Given the description of an element on the screen output the (x, y) to click on. 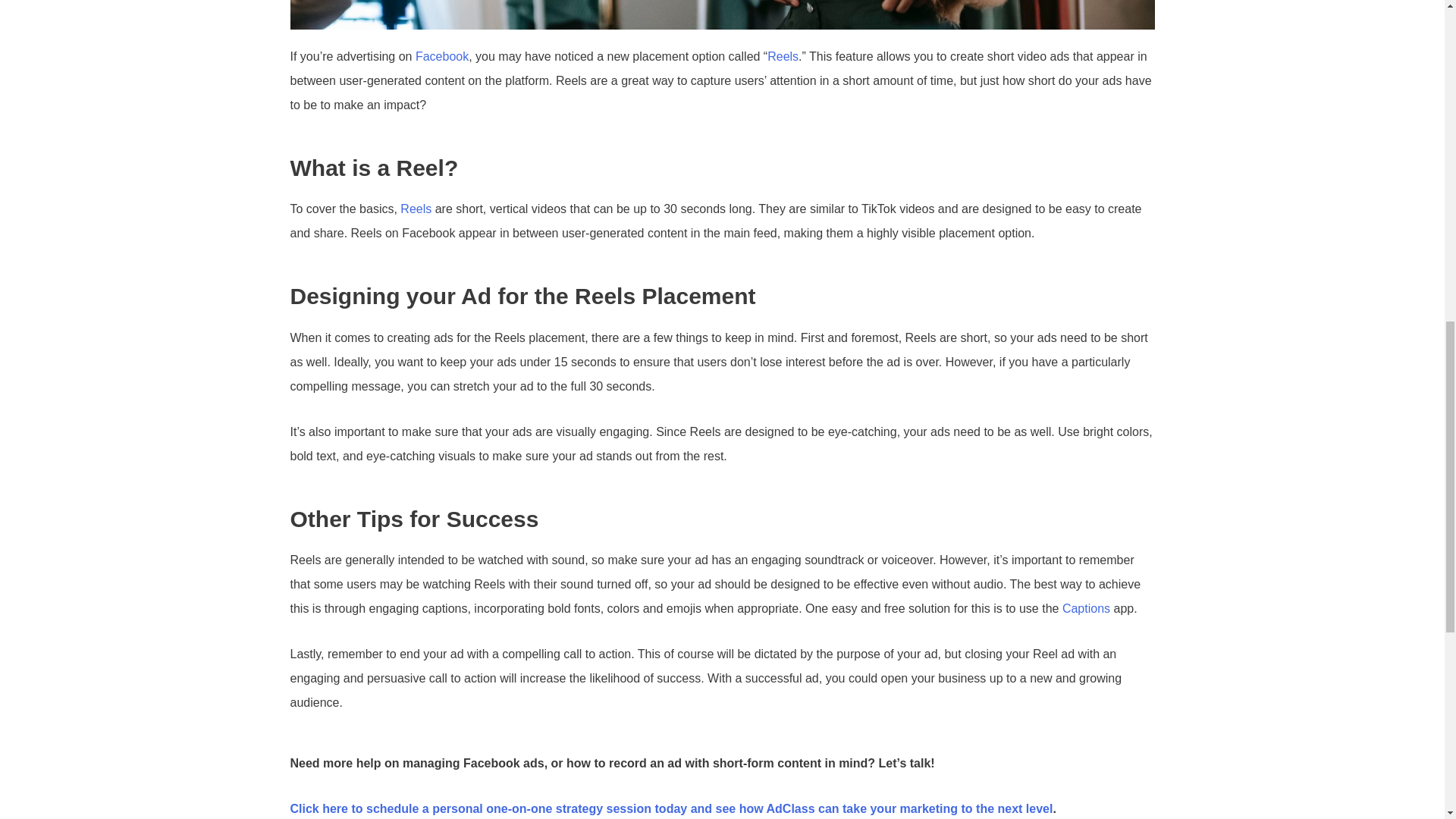
Captions (1085, 608)
Reels (415, 208)
Facebook (441, 56)
Reels (782, 56)
